Given the description of an element on the screen output the (x, y) to click on. 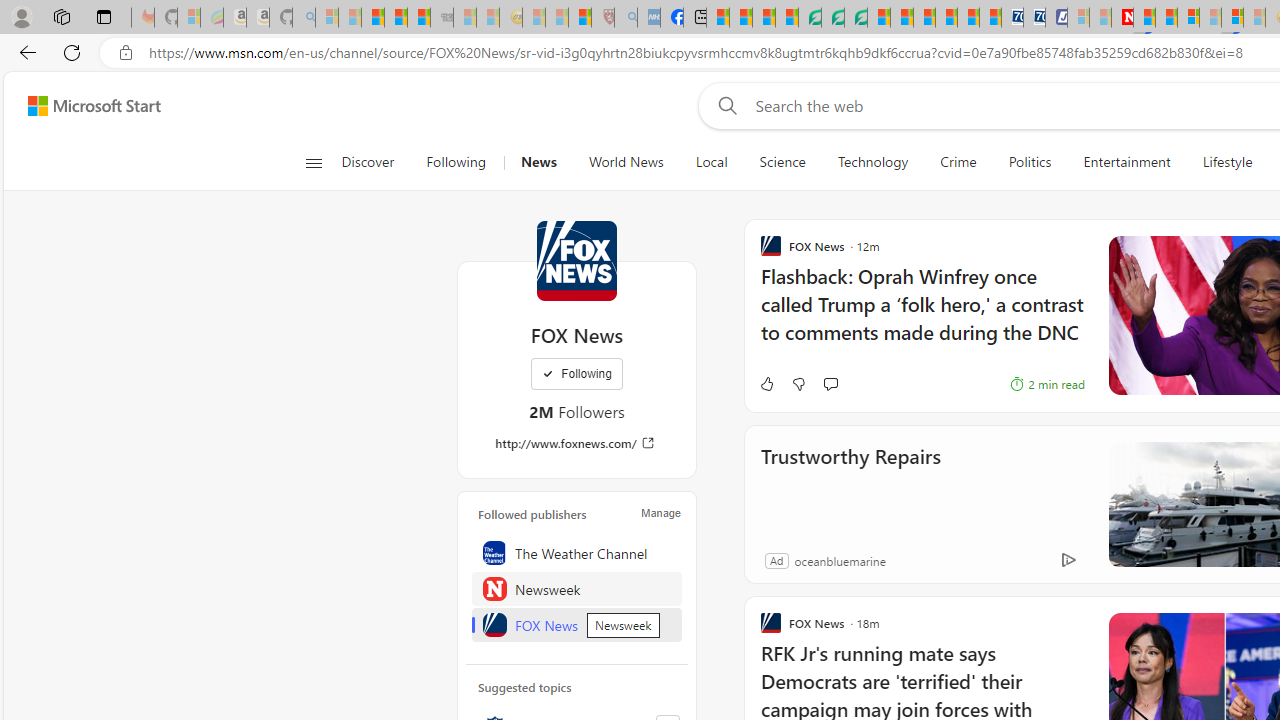
New Report Confirms 2023 Was Record Hot | Watch (419, 17)
